Given the description of an element on the screen output the (x, y) to click on. 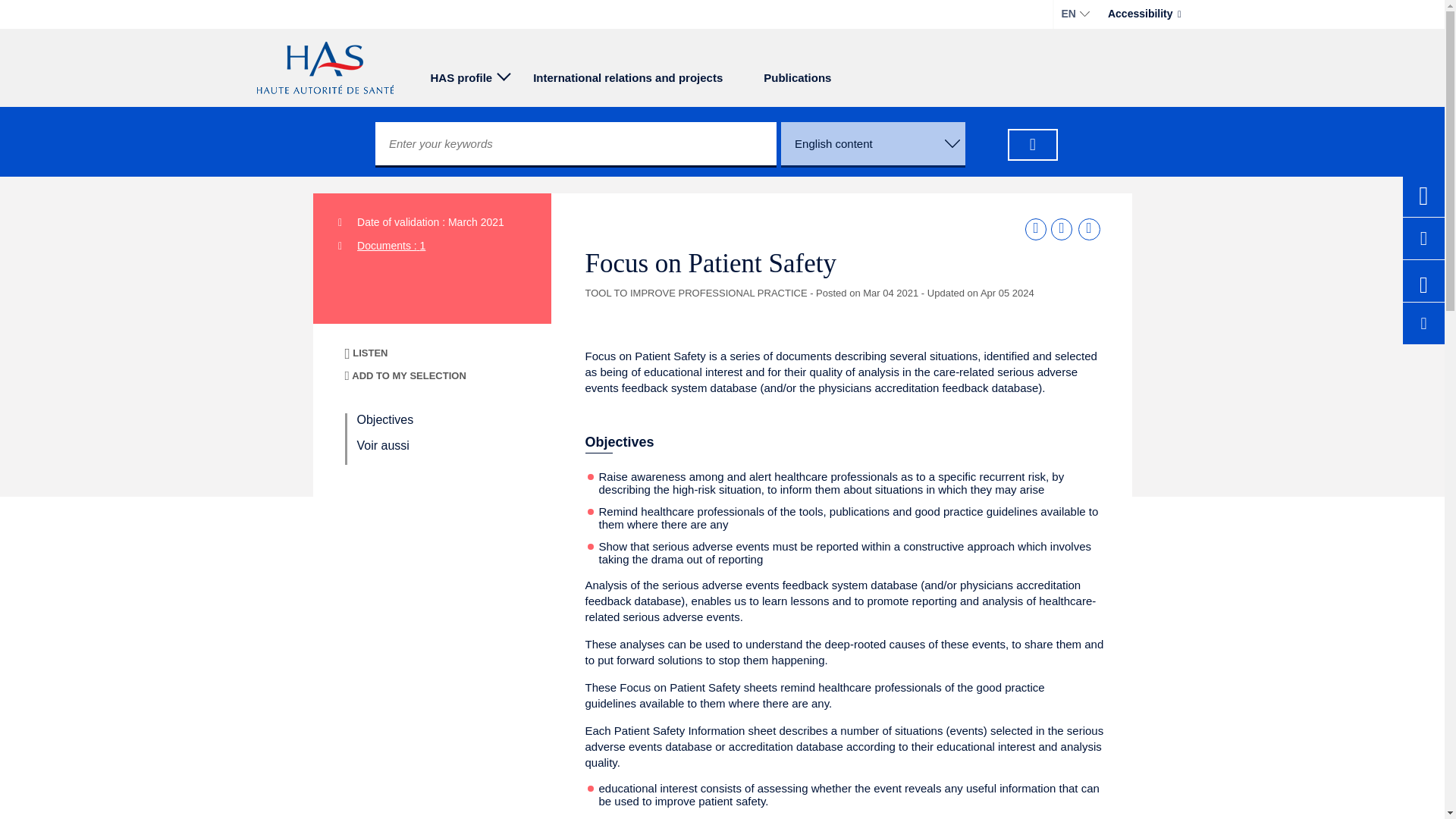
Publications (796, 75)
International relations and projects (627, 75)
Documents : 1 (390, 245)
ADD TO MY SELECTION (404, 375)
Objectives (384, 419)
LISTEN (385, 362)
Print (1089, 229)
Voir aussi (382, 445)
Chercher (1032, 144)
HAS profile (463, 75)
